Given the description of an element on the screen output the (x, y) to click on. 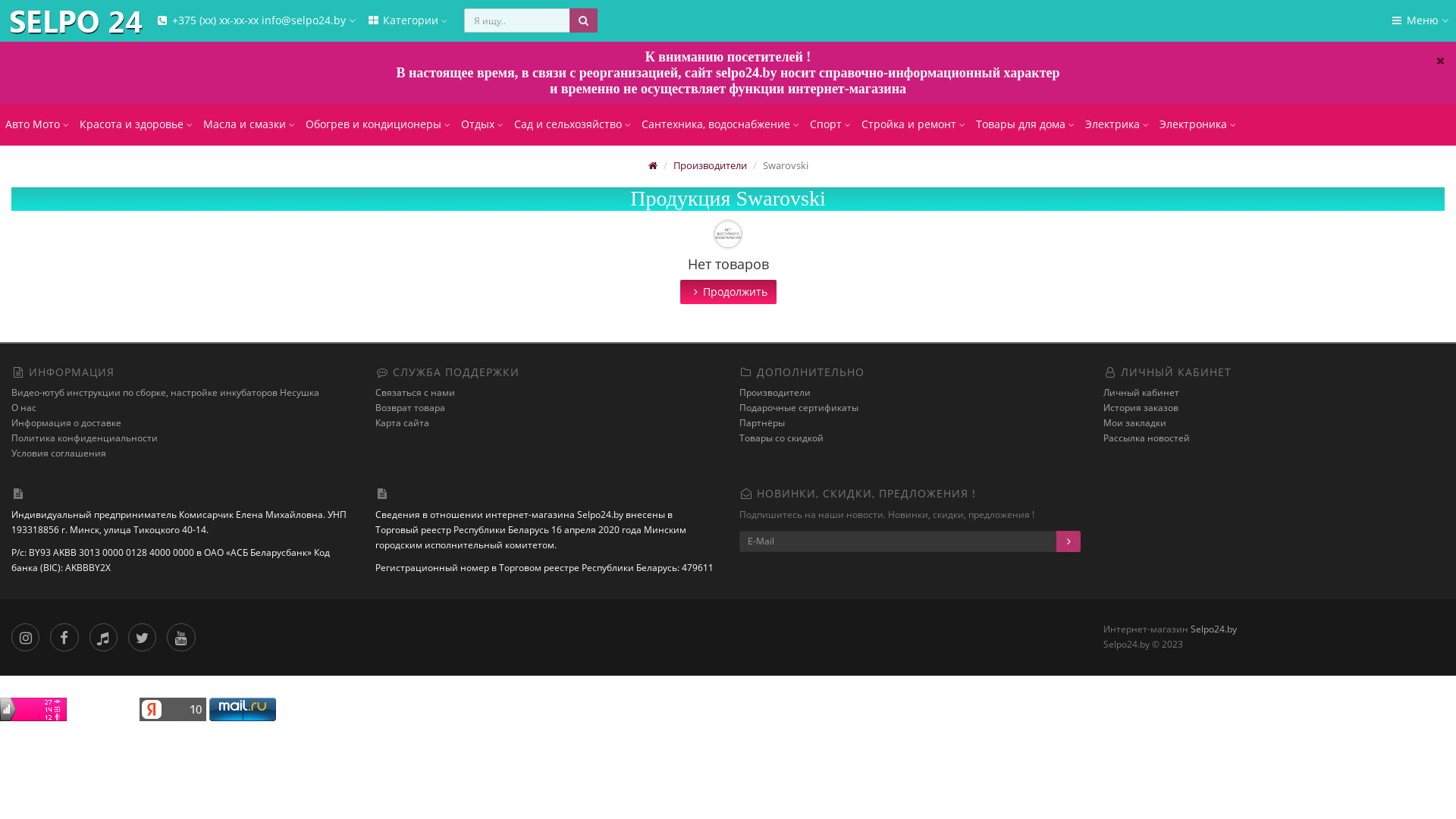
Selpo24.by Element type: text (1213, 628)
+375 (xx) xx-xx-xx info@selpo24.by Element type: text (255, 20)
Selpo24.by Element type: hover (75, 21)
